Given the description of an element on the screen output the (x, y) to click on. 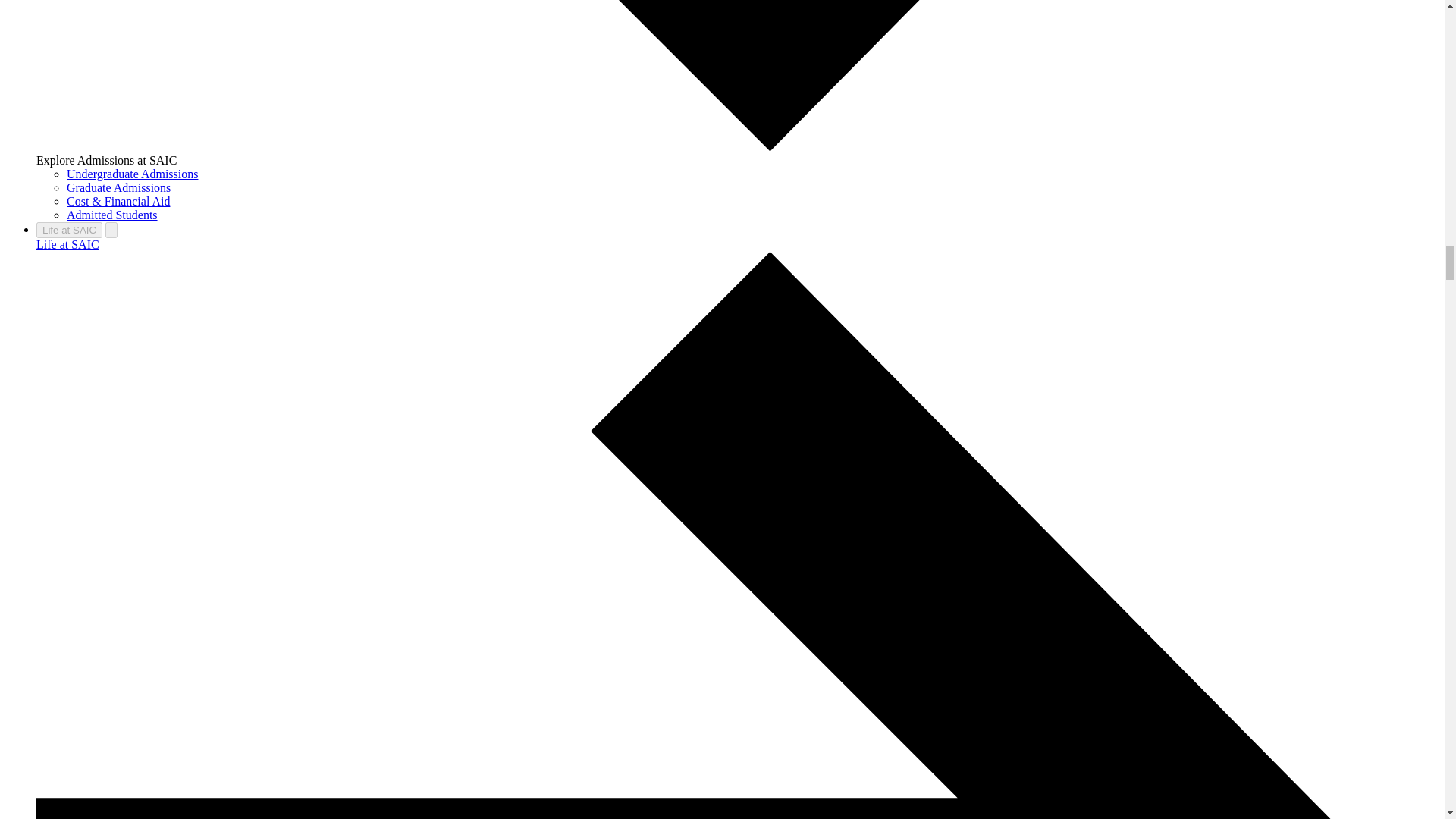
Graduate Admissions (118, 187)
Life at SAIC (68, 229)
Life at SAIC (67, 244)
Undergraduate Admissions (132, 173)
Admitted Students (111, 214)
